Given the description of an element on the screen output the (x, y) to click on. 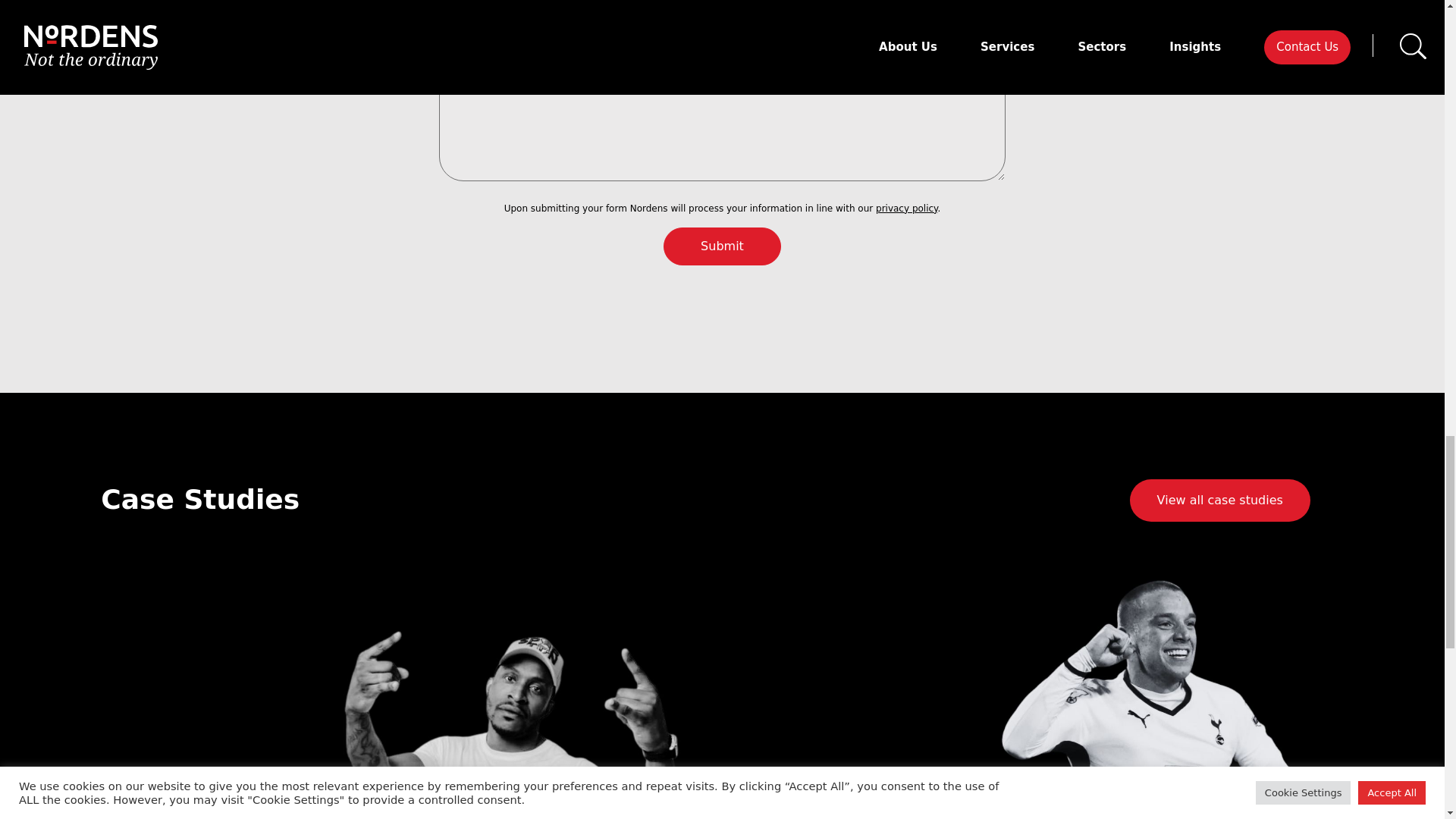
Submit (721, 246)
